Given the description of an element on the screen output the (x, y) to click on. 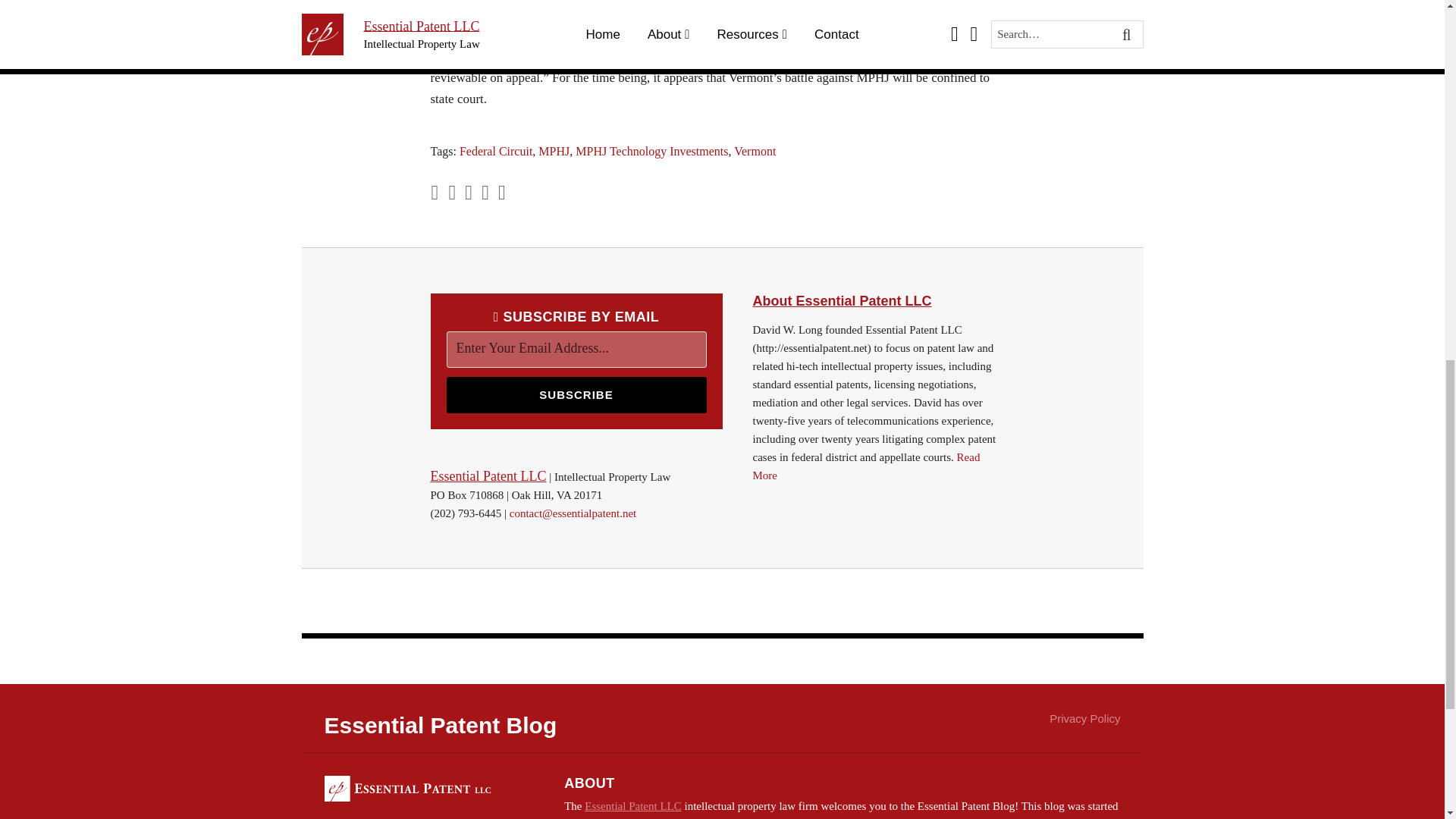
About Essential Patent LLC (877, 301)
essentialpatent.net (488, 476)
Subscribe (575, 394)
essentialpatent.net (877, 301)
Subscribe (575, 394)
Vermont (754, 151)
Federal Circuit (496, 151)
MPHJ (553, 151)
essentialpatent.net (633, 806)
MPHJ Technology Investments (651, 151)
